Given the description of an element on the screen output the (x, y) to click on. 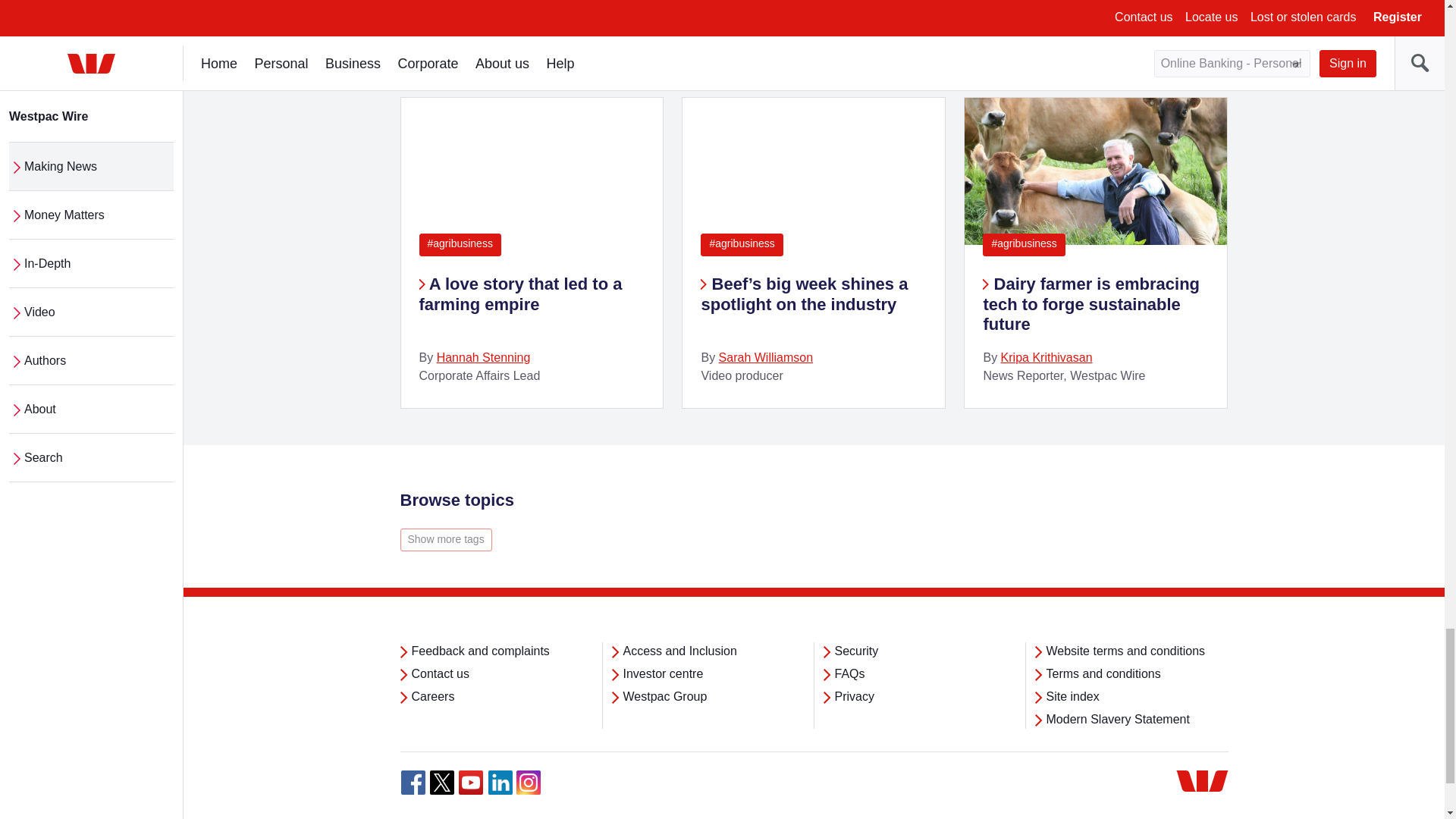
Youtube (470, 782)
LinkedIn (499, 782)
Twitter (441, 782)
Facebook (412, 782)
Instagram (528, 782)
